Given the description of an element on the screen output the (x, y) to click on. 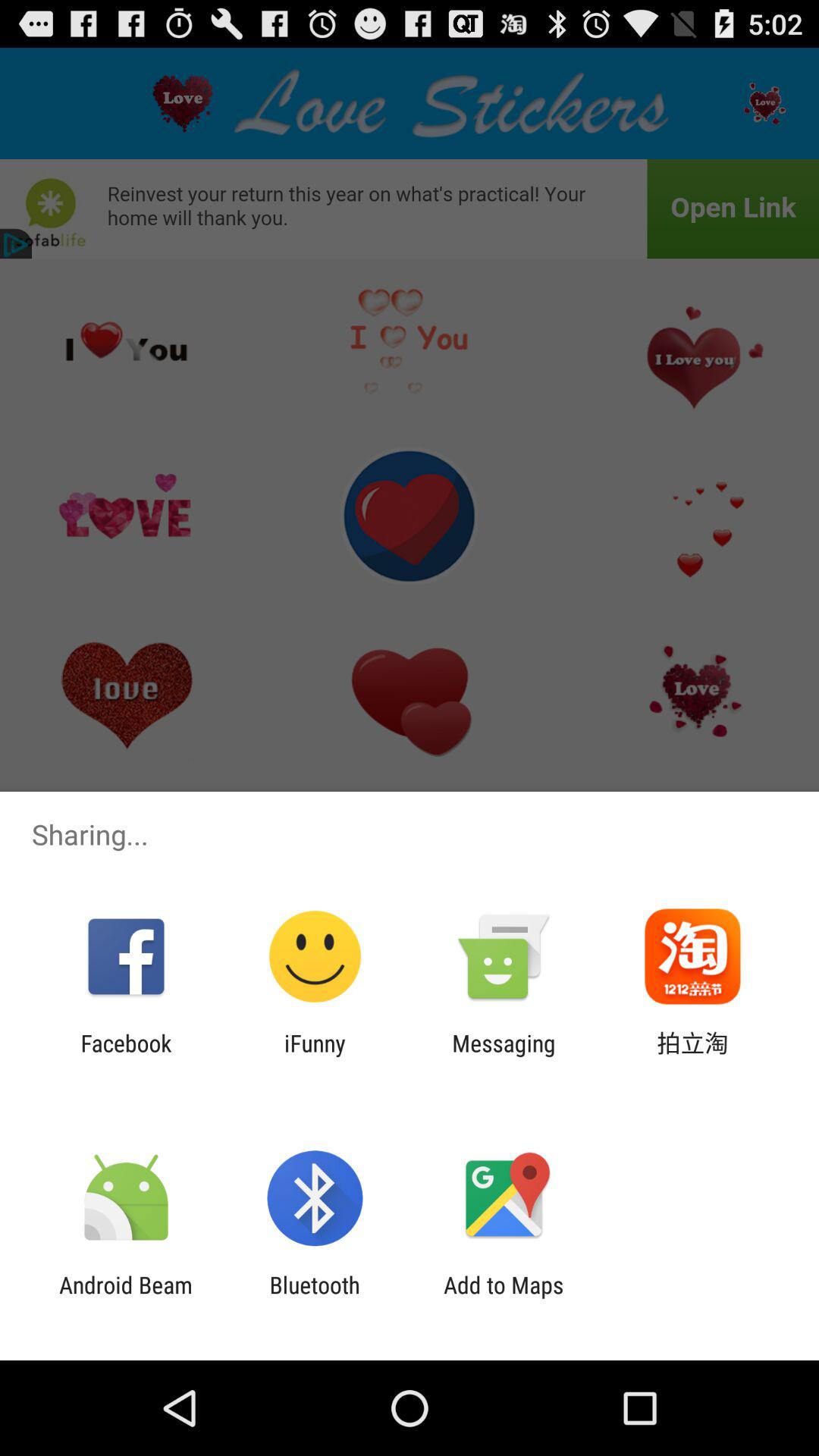
choose the app next to the add to maps app (314, 1298)
